Given the description of an element on the screen output the (x, y) to click on. 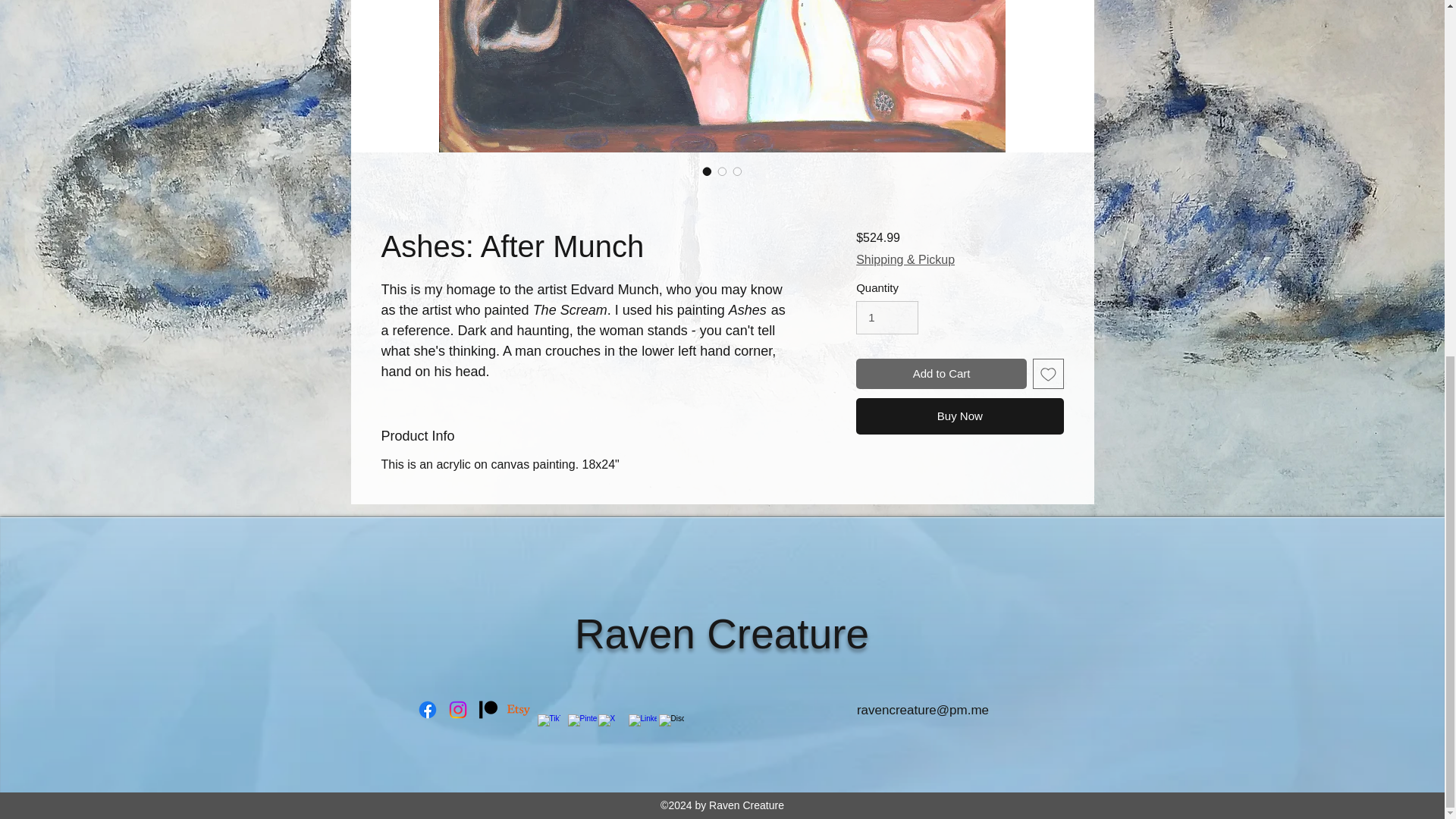
Buy Now (959, 416)
1 (887, 317)
Add to Cart (941, 373)
